Given the description of an element on the screen output the (x, y) to click on. 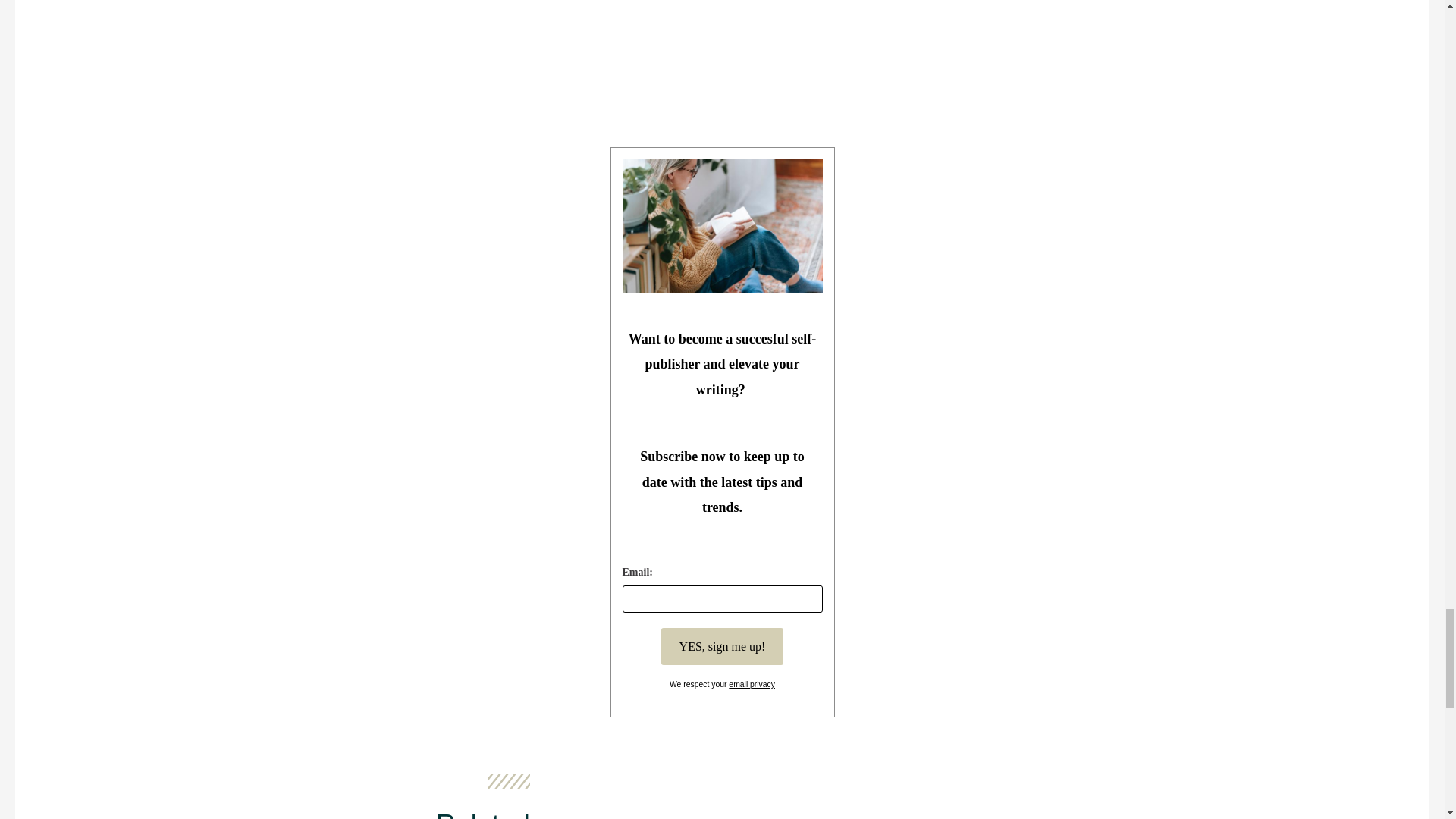
YES, sign me up! (722, 646)
email privacy (751, 684)
Privacy Policy (751, 684)
YES, sign me up! (722, 646)
